Given the description of an element on the screen output the (x, y) to click on. 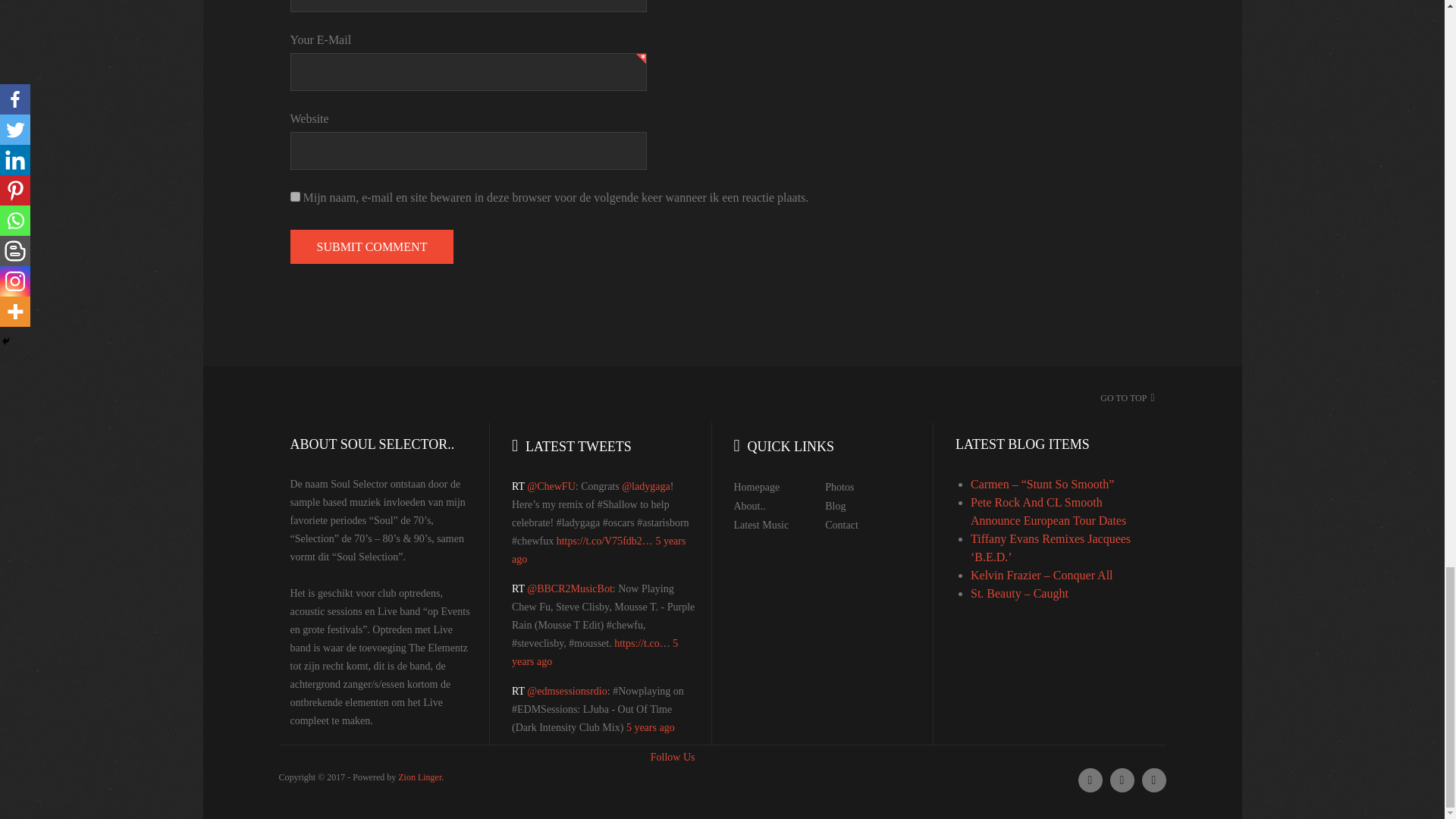
Homepage (756, 487)
5 years ago (595, 652)
GO TO TOP (1123, 398)
5 years ago (598, 550)
5 years ago (650, 727)
yes (294, 196)
Submit Comment (370, 246)
Twitter (1090, 780)
Follow Us (672, 757)
Submit Comment (370, 246)
